Given the description of an element on the screen output the (x, y) to click on. 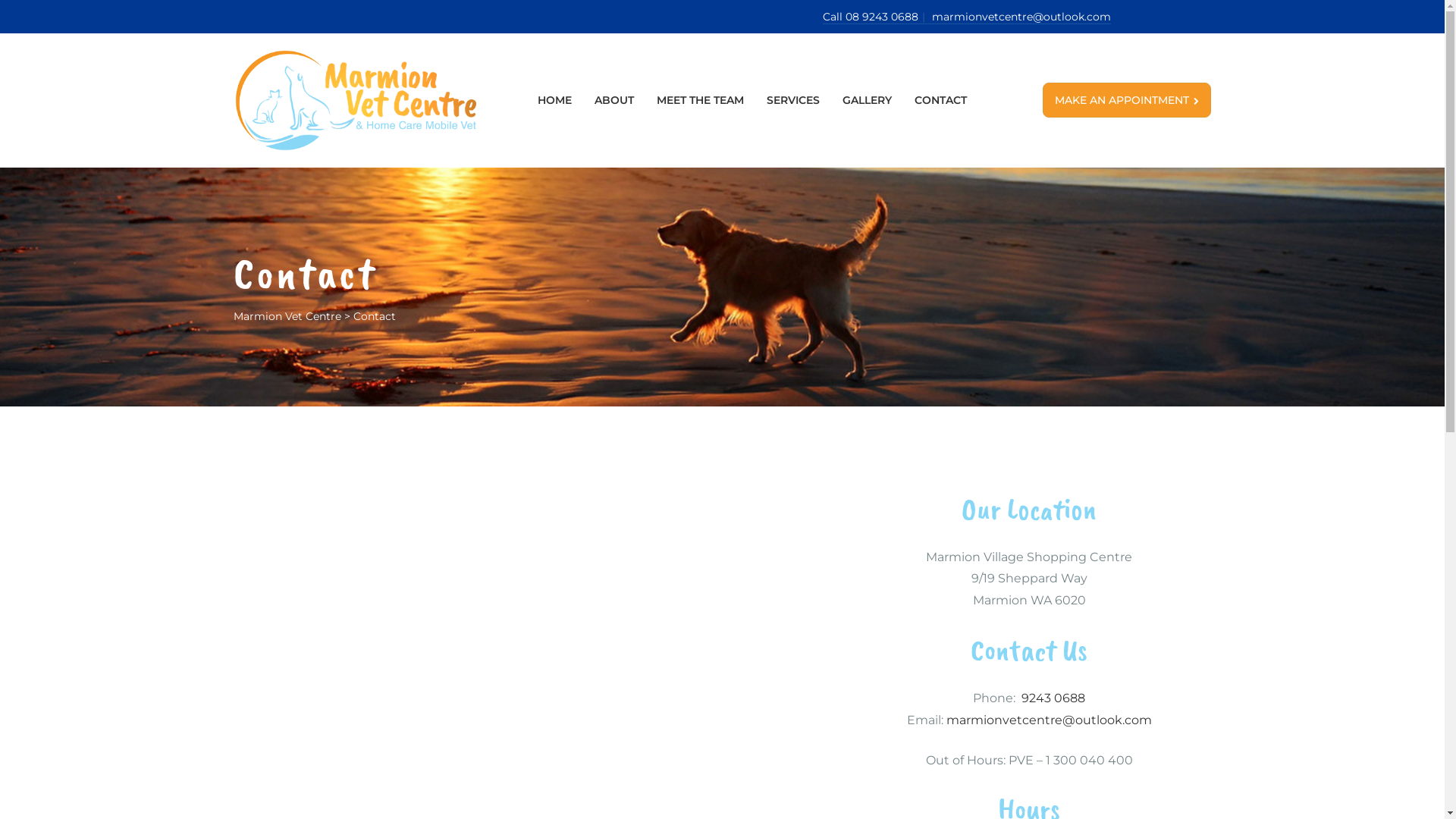
CONTACT Element type: text (940, 100)
MAKE AN APPOINTMENT Element type: text (1126, 99)
MEET THE TEAM Element type: text (699, 100)
ABOUT Element type: text (613, 100)
marmionvetcentre@outlook.com Element type: text (1048, 719)
marmionvetcentre@outlook.com Element type: text (1020, 16)
SERVICES Element type: text (792, 100)
GALLERY Element type: text (866, 100)
9243 0688 Element type: text (1053, 697)
Call 08 9243 0688| Element type: text (876, 16)
Marmion Vet Centre Element type: text (287, 316)
HOME Element type: text (554, 100)
